Given the description of an element on the screen output the (x, y) to click on. 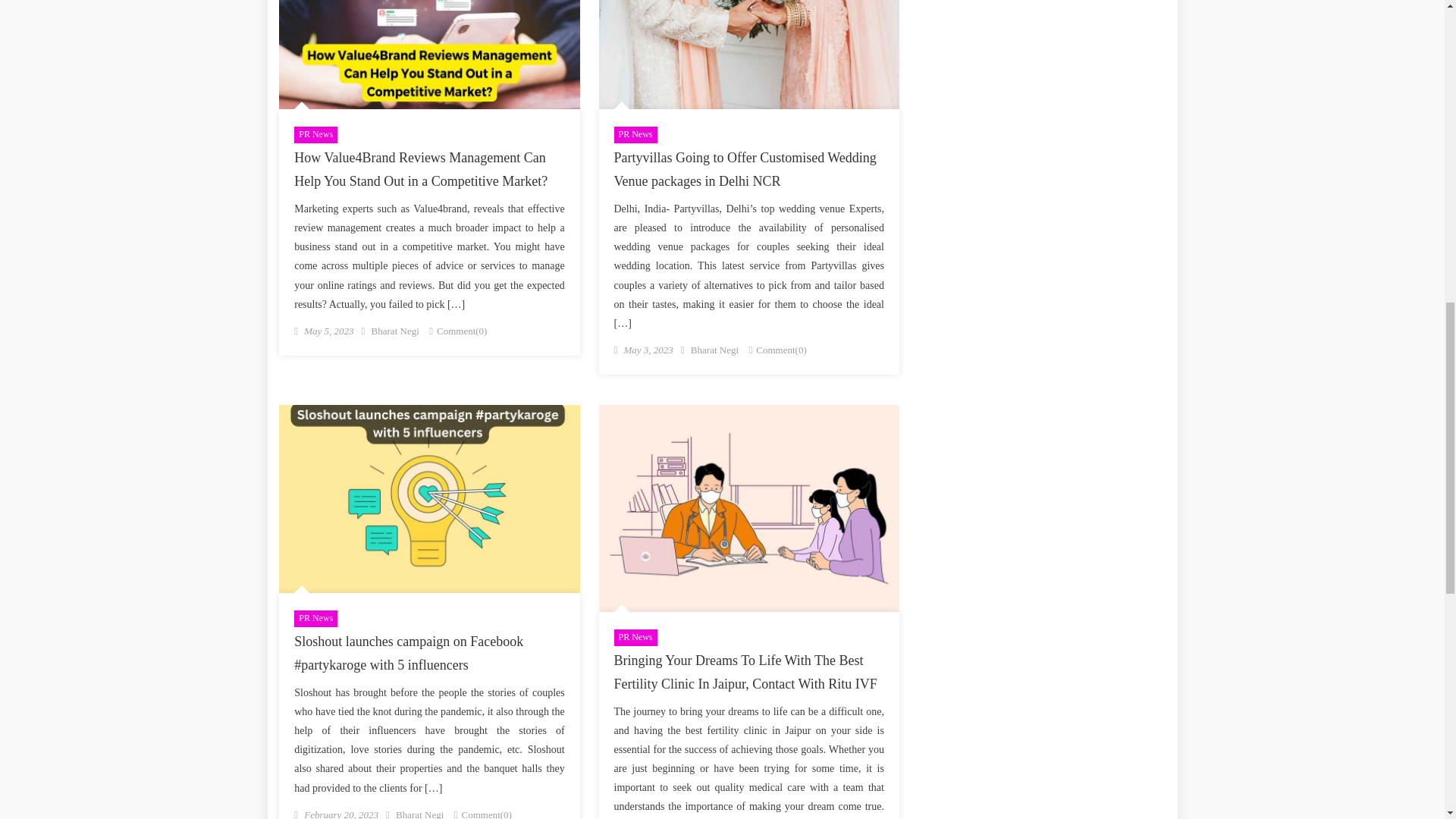
May 5, 2023 (328, 330)
Bharat Negi (714, 349)
PR News (636, 134)
PR News (315, 134)
May 3, 2023 (647, 349)
Bharat Negi (395, 330)
PR News (315, 618)
